Given the description of an element on the screen output the (x, y) to click on. 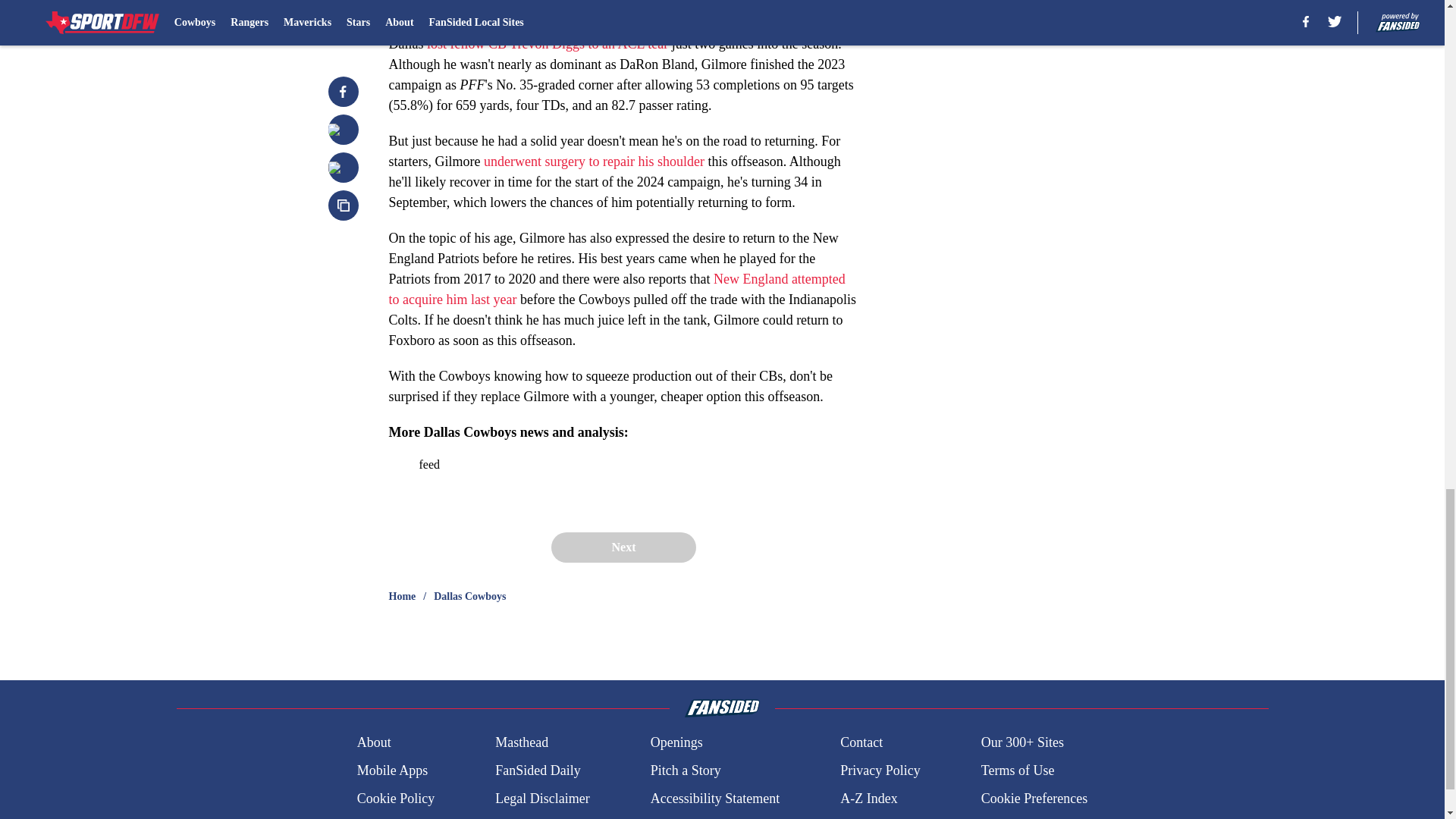
Legal Disclaimer (542, 798)
underwent surgery to repair his shoulder (593, 160)
lost fellow CB Trevon Diggs to an ACL tear (547, 43)
Accessibility Statement (714, 798)
Privacy Policy (880, 770)
Mobile Apps (392, 770)
Masthead (521, 742)
Openings (676, 742)
FanSided Daily (537, 770)
Pitch a Story (685, 770)
New England attempted to acquire him last year (616, 289)
Terms of Use (1017, 770)
Cookie Policy (395, 798)
Contact (861, 742)
About (373, 742)
